Given the description of an element on the screen output the (x, y) to click on. 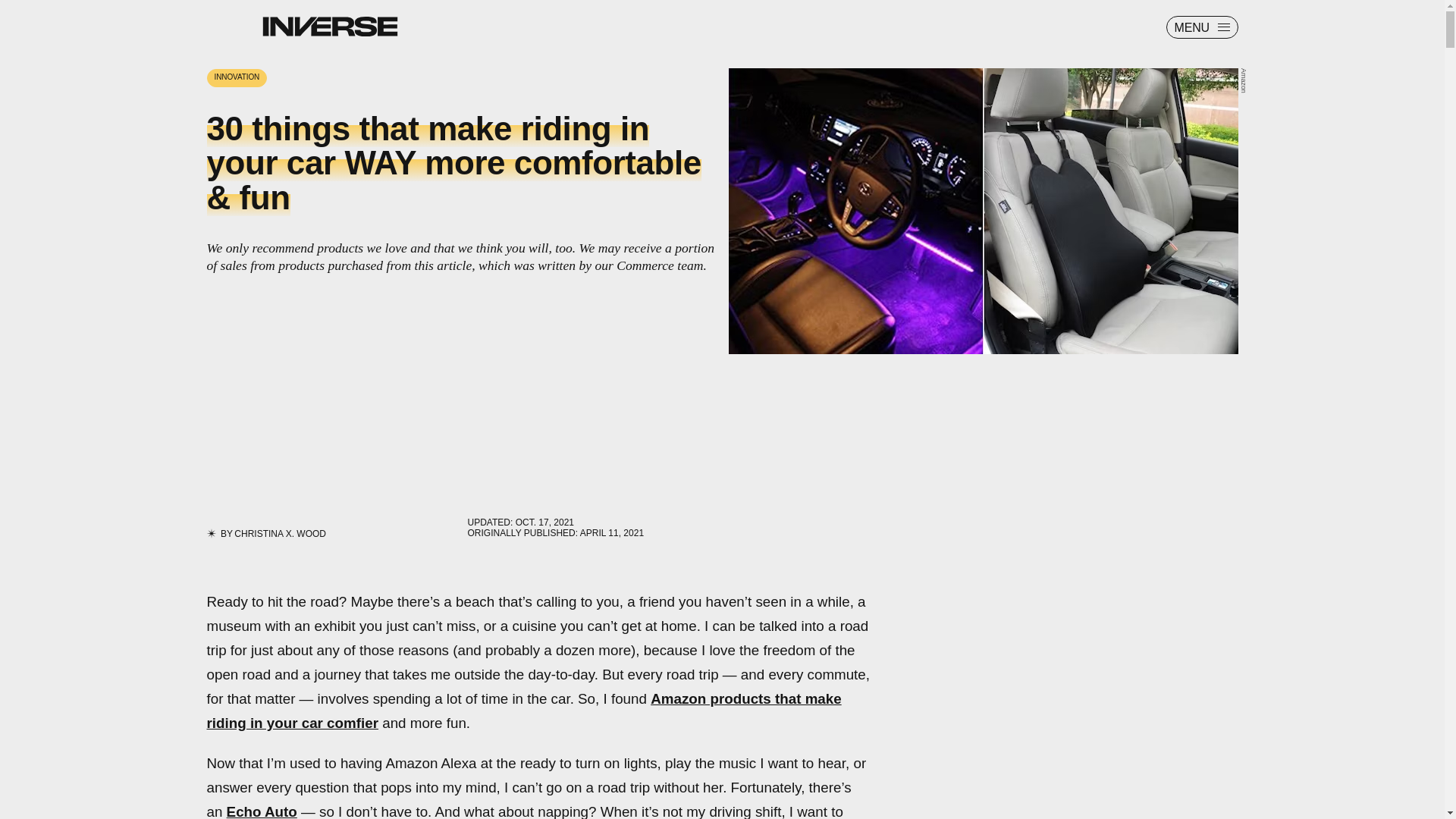
Inverse (328, 26)
Echo Auto (262, 811)
Amazon products that make riding in your car comfier (523, 711)
